Given the description of an element on the screen output the (x, y) to click on. 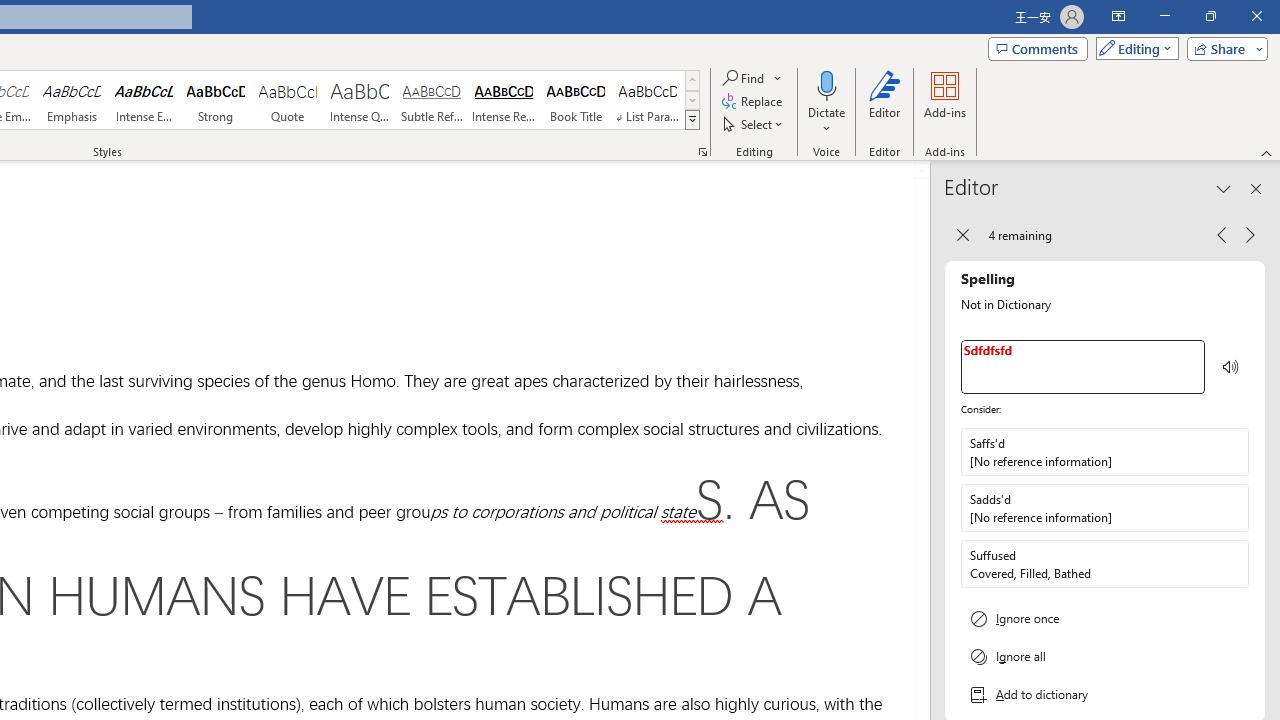
Intense Emphasis (143, 100)
Close pane (1256, 188)
Row up (692, 79)
Emphasis (71, 100)
Restore Down (1210, 16)
Find (753, 78)
Quote (287, 100)
Ribbon Display Options (1118, 16)
Previous Issue, 4 remaining (1221, 234)
Styles... (702, 151)
Intense Reference (504, 100)
